Given the description of an element on the screen output the (x, y) to click on. 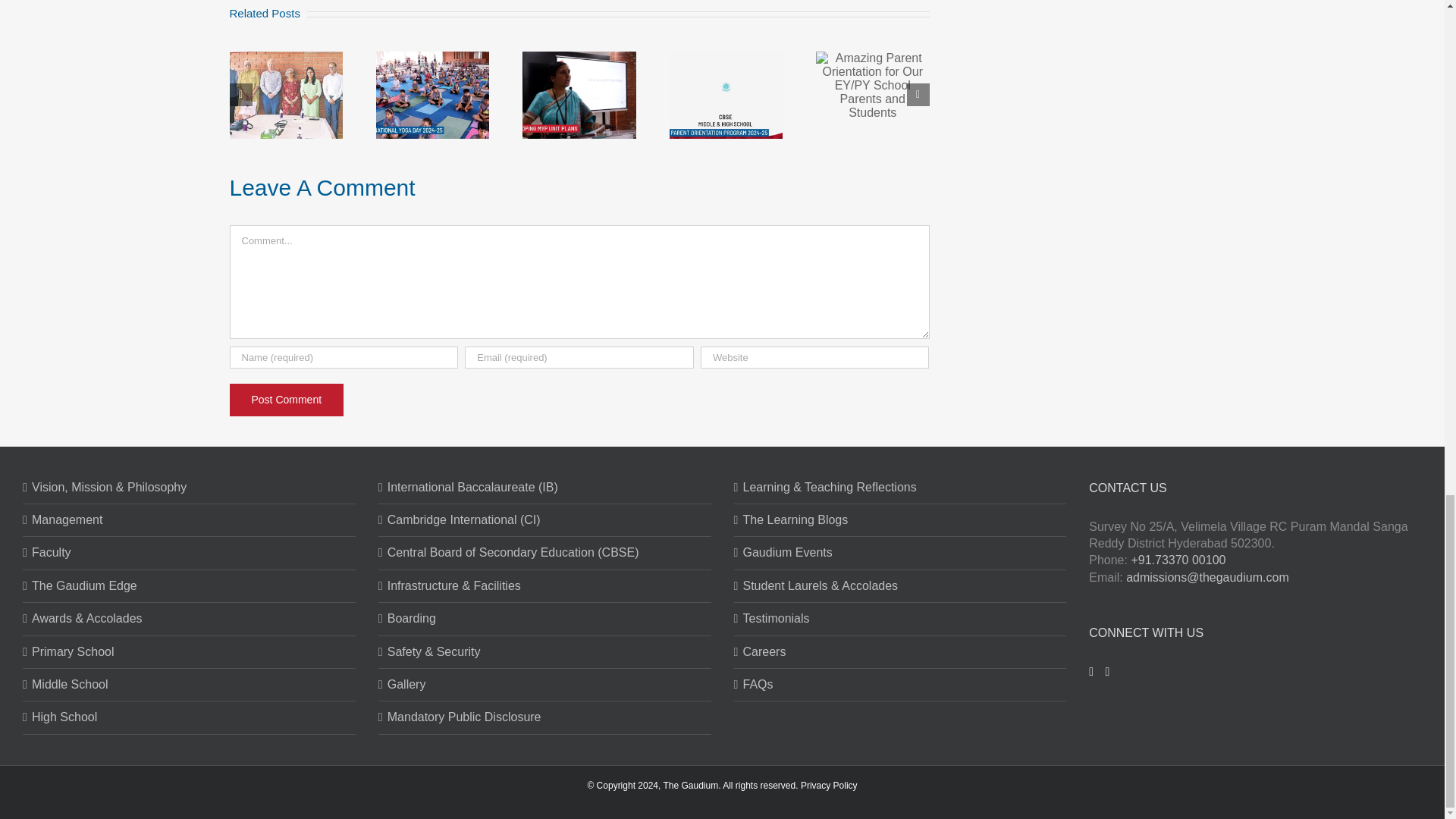
Post Comment (285, 400)
